Given the description of an element on the screen output the (x, y) to click on. 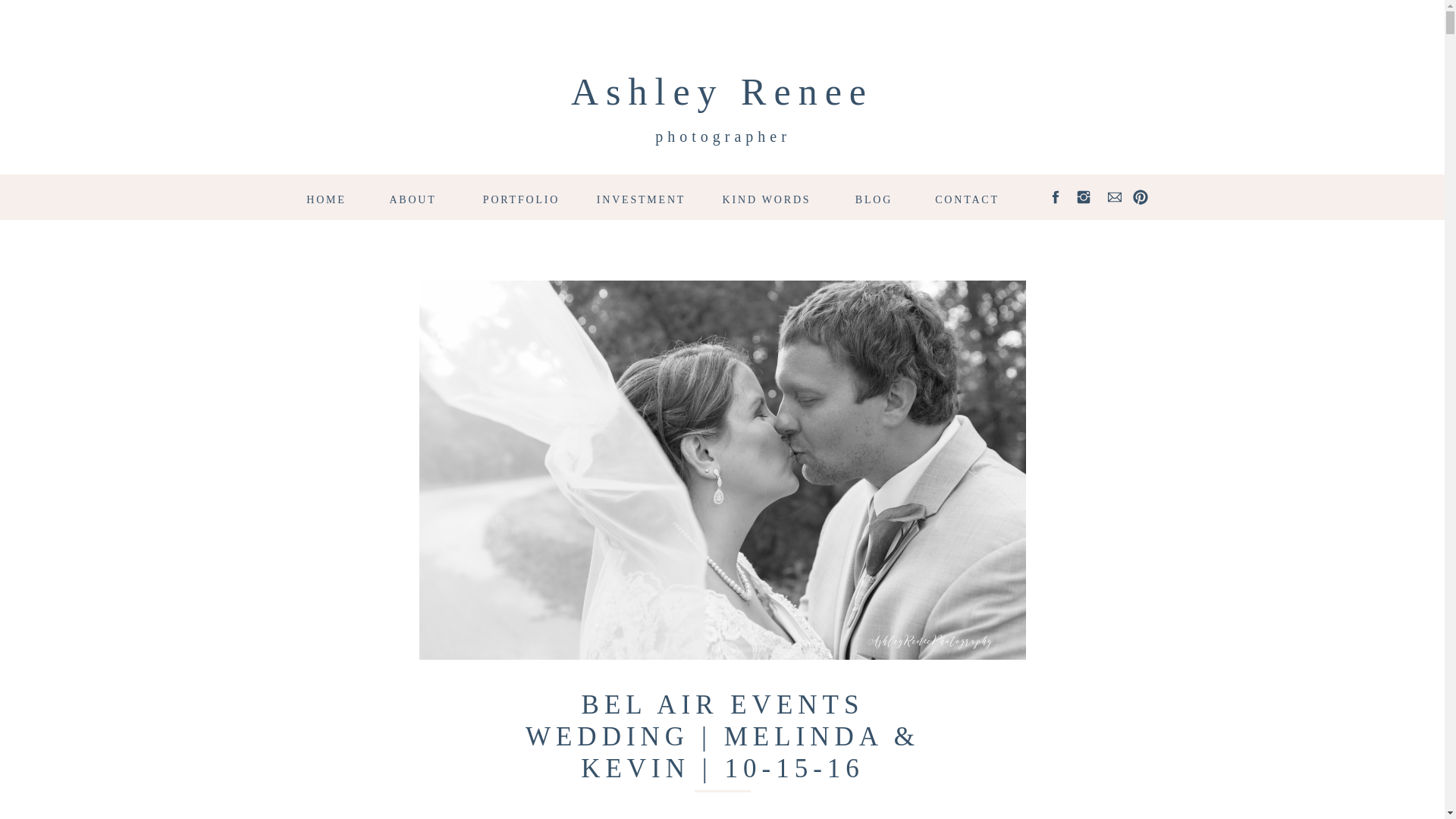
HOME (325, 197)
INVESTMENT (641, 197)
ABOUT (411, 197)
PORTFOLIO (521, 197)
CONTACT (968, 197)
KIND WORDS (767, 197)
BLOG (874, 197)
